Given the description of an element on the screen output the (x, y) to click on. 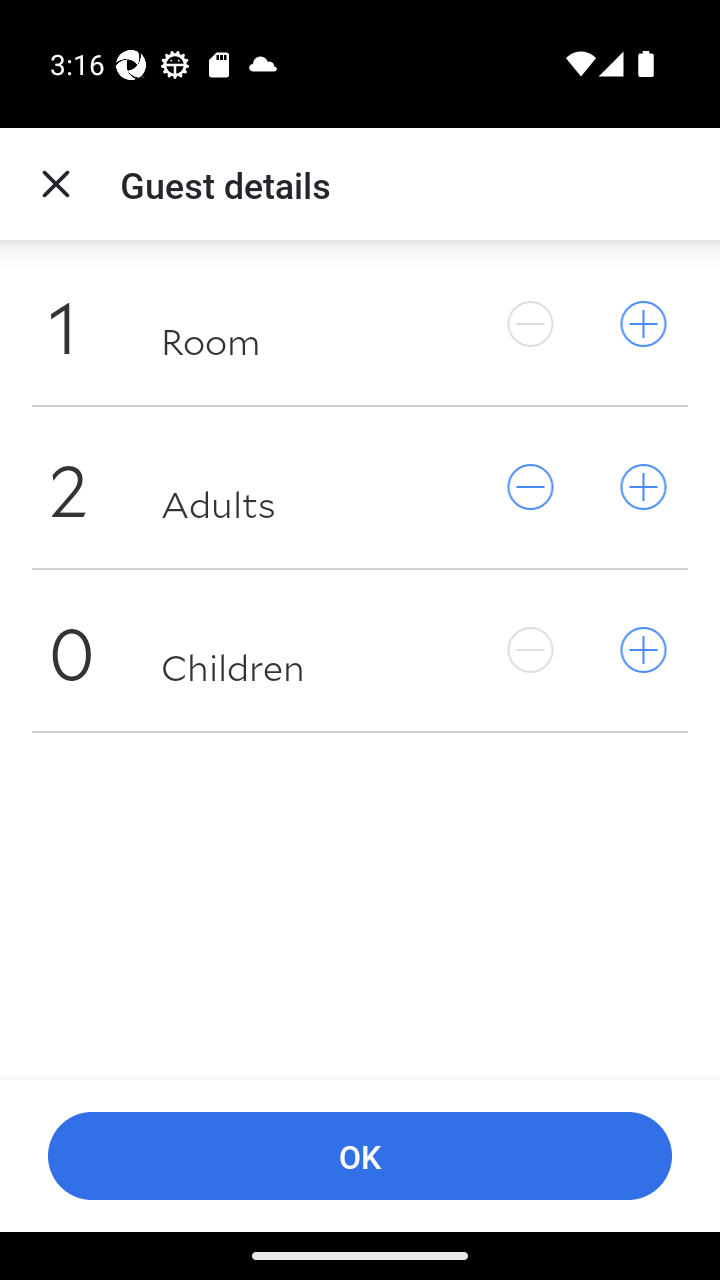
OK (359, 1156)
